Given the description of an element on the screen output the (x, y) to click on. 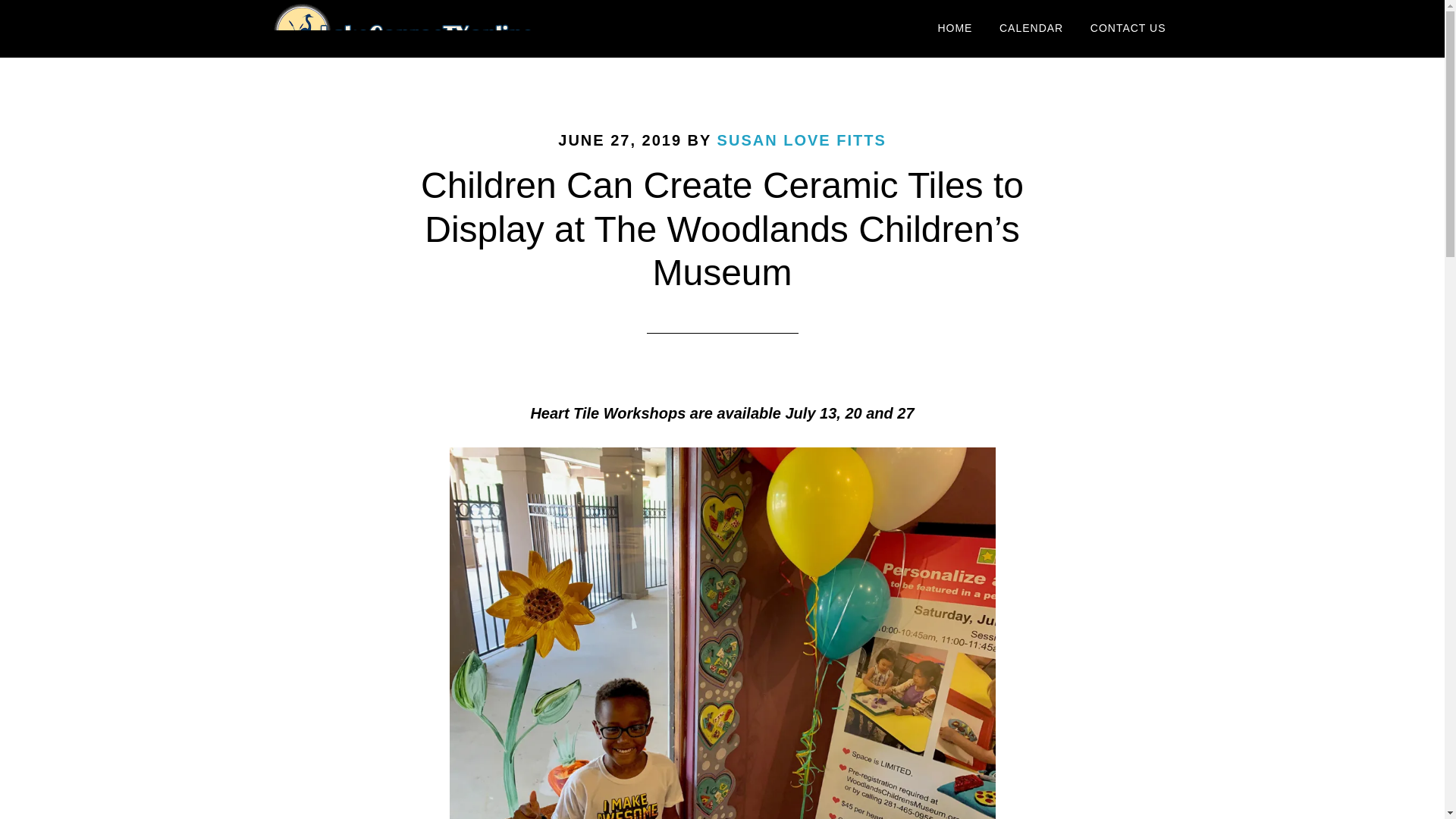
CONTACT US (1127, 28)
HOME (955, 28)
SUSAN LOVE FITTS (801, 139)
LAKECONROETXONLINE (403, 28)
CALENDAR (1031, 28)
